Given the description of an element on the screen output the (x, y) to click on. 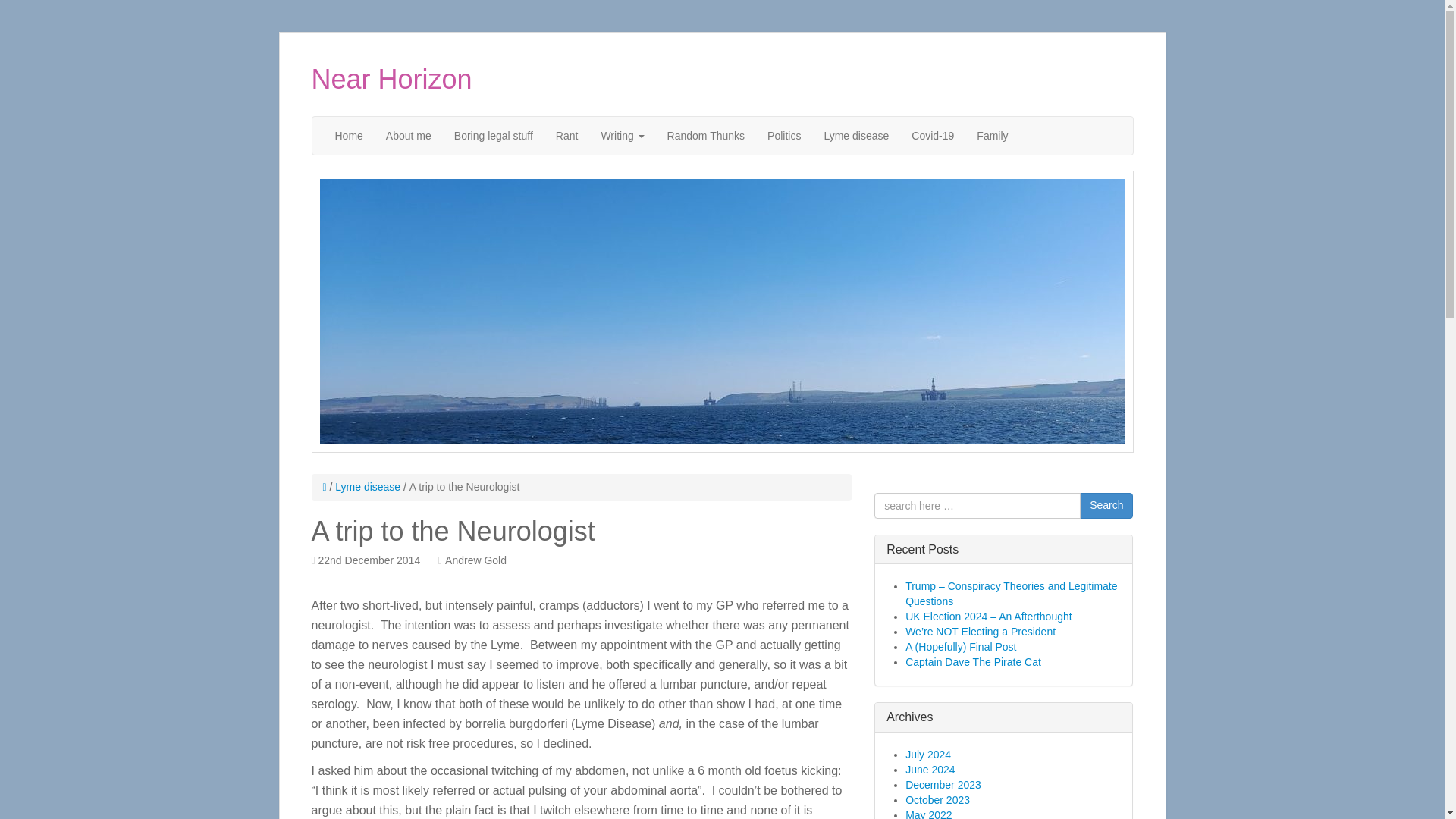
Lyme disease (367, 486)
Covid-19 (932, 135)
July 2024 (927, 754)
May 2022 (928, 814)
About me (408, 135)
Lyme disease (855, 135)
Writing (622, 135)
Rant (566, 135)
Boring legal stuff (493, 135)
Home (348, 135)
Random Thunks (705, 135)
Andrew Gold (475, 560)
22nd December 2014 (369, 560)
Writing (622, 135)
Captain Dave The Pirate Cat (973, 662)
